Given the description of an element on the screen output the (x, y) to click on. 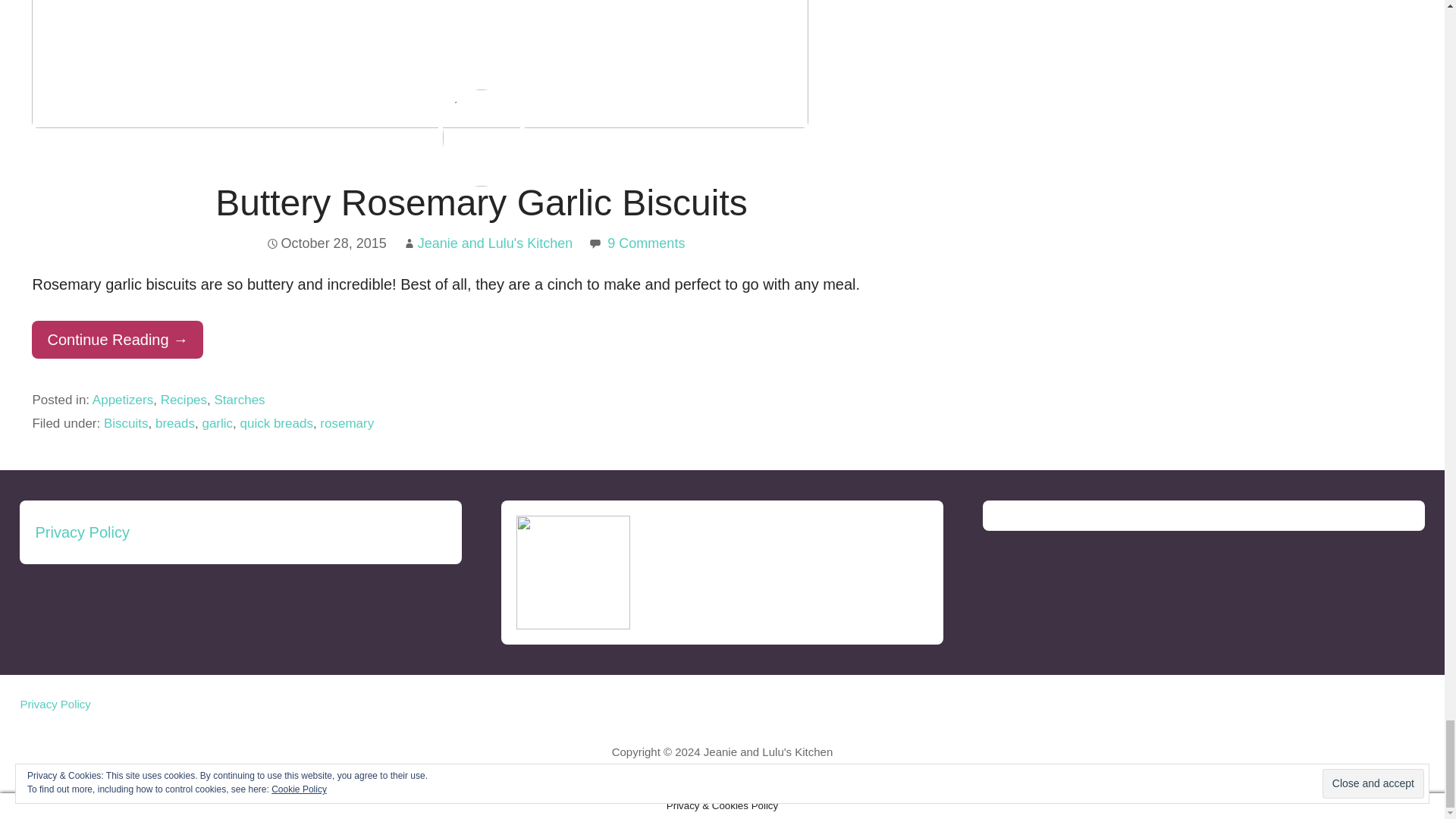
Posts by Jeanie and Lulu's Kitchen (495, 242)
